Given the description of an element on the screen output the (x, y) to click on. 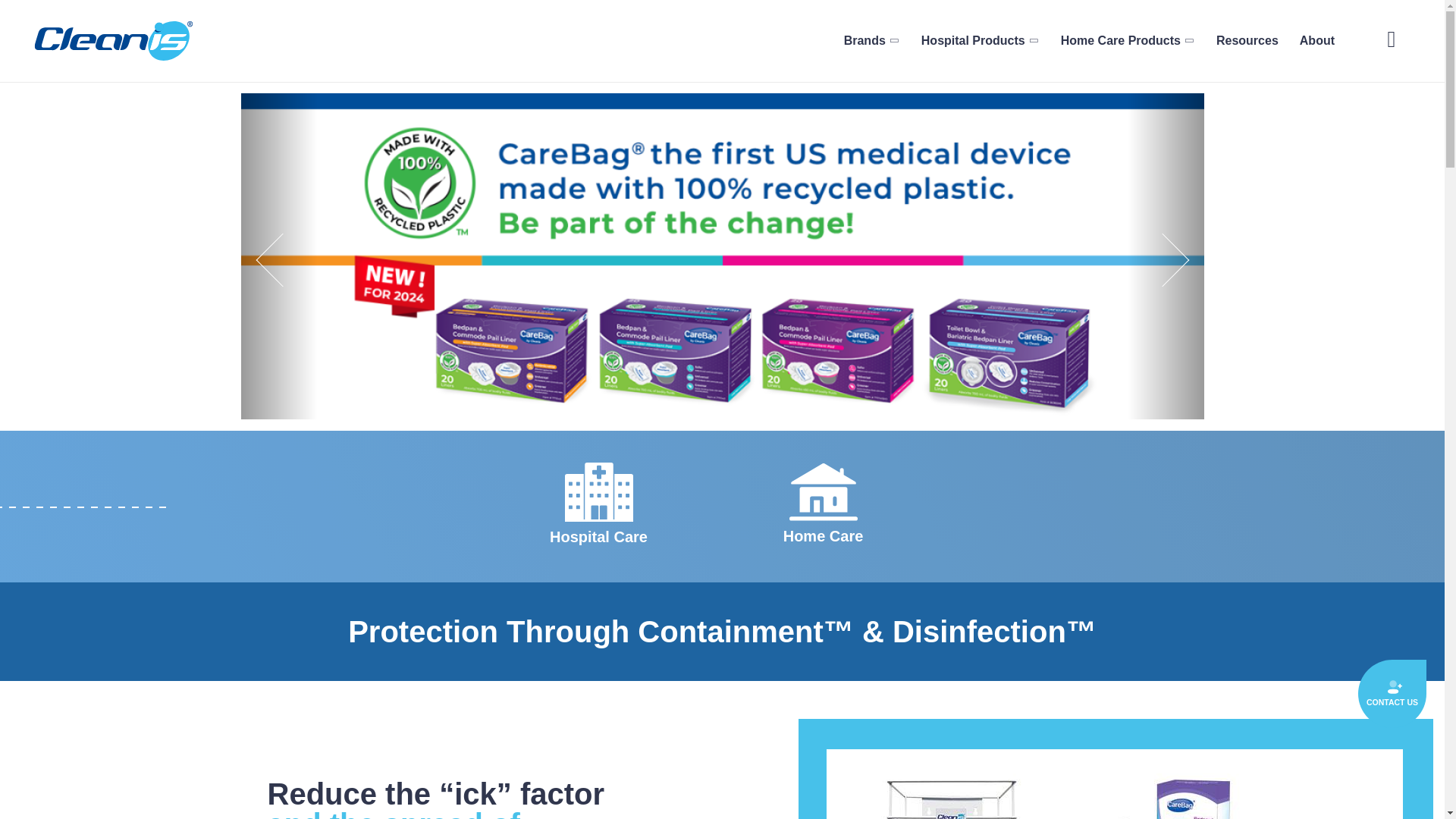
CONTACT US (1392, 694)
Resources (1246, 40)
Hospital Care (598, 539)
About (1317, 40)
Hospital Products (980, 40)
Home Care (823, 538)
Home Care Products (1127, 40)
